Given the description of an element on the screen output the (x, y) to click on. 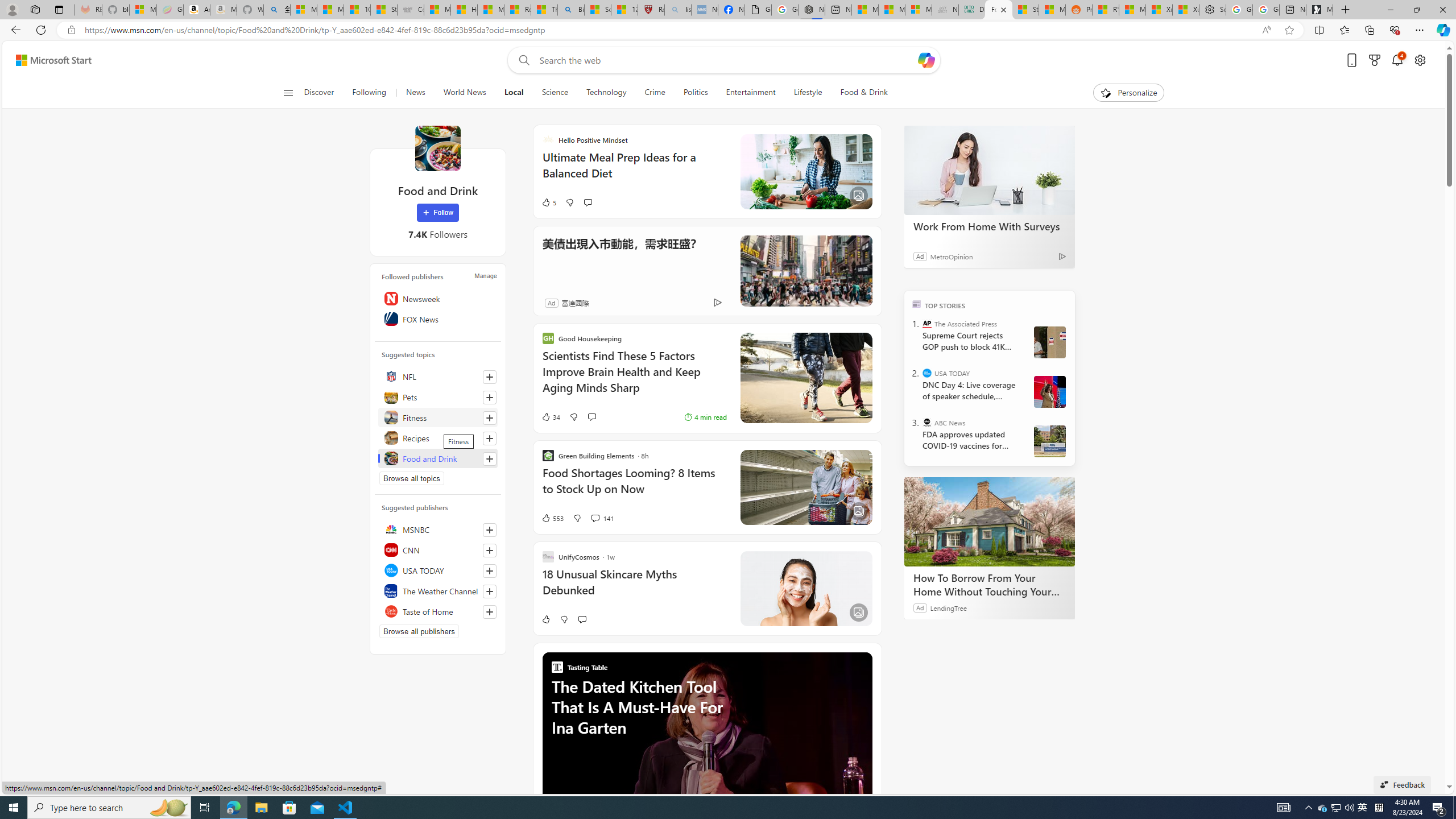
Recipes - MSN (517, 9)
Open settings (1420, 60)
Open navigation menu (287, 92)
Follow this source (489, 612)
Web search (520, 60)
How I Got Rid of Microsoft Edge's Unnecessary Features (463, 9)
Google Analytics Opt-out Browser Add-on Download Page (757, 9)
MetroOpinion (951, 256)
